Given the description of an element on the screen output the (x, y) to click on. 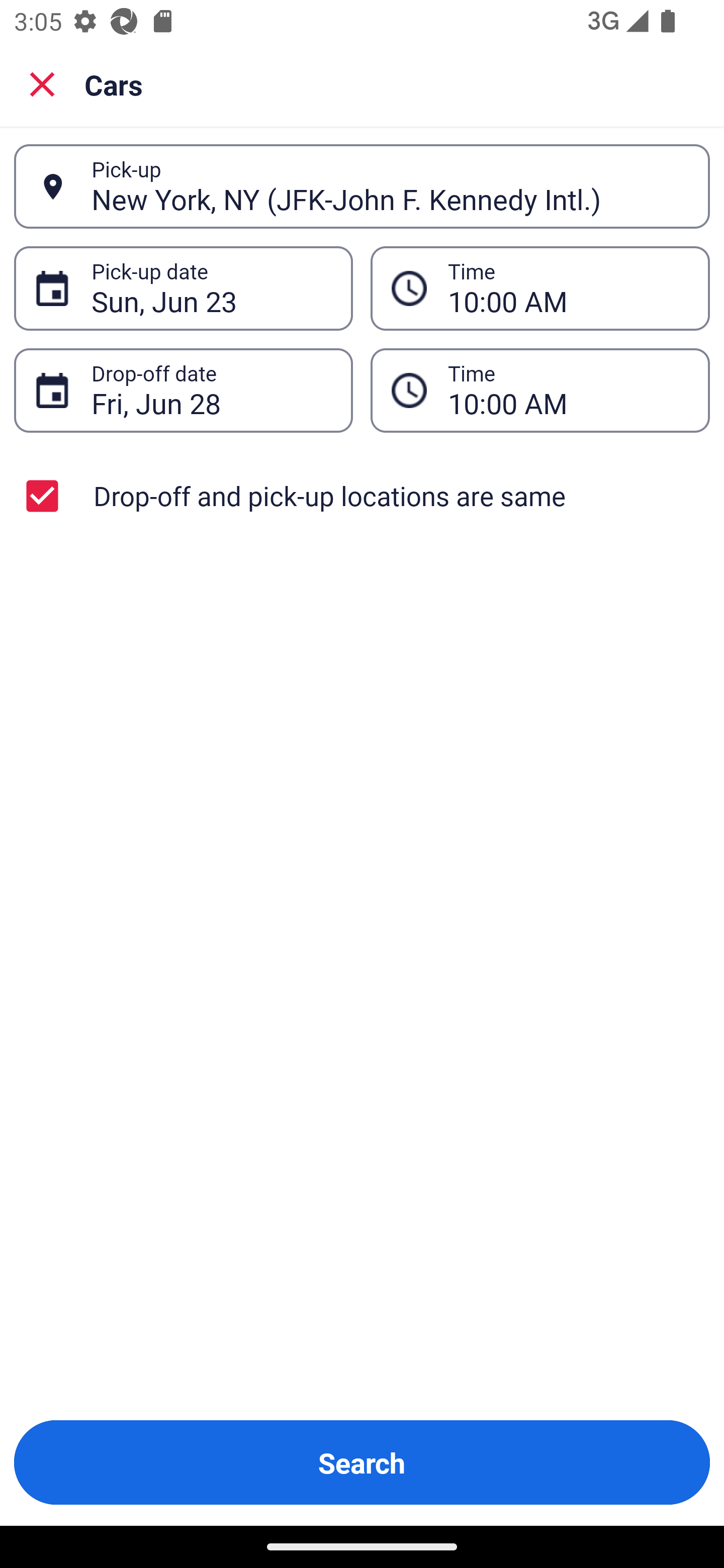
Close search screen (41, 83)
New York, NY (JFK-John F. Kennedy Intl.) Pick-up (361, 186)
New York, NY (JFK-John F. Kennedy Intl.) (389, 186)
Sun, Jun 23 Pick-up date (183, 288)
10:00 AM (540, 288)
Sun, Jun 23 (211, 288)
10:00 AM (568, 288)
Fri, Jun 28 Drop-off date (183, 390)
10:00 AM (540, 390)
Fri, Jun 28 (211, 390)
10:00 AM (568, 390)
Drop-off and pick-up locations are same (361, 495)
Search Button Search (361, 1462)
